Given the description of an element on the screen output the (x, y) to click on. 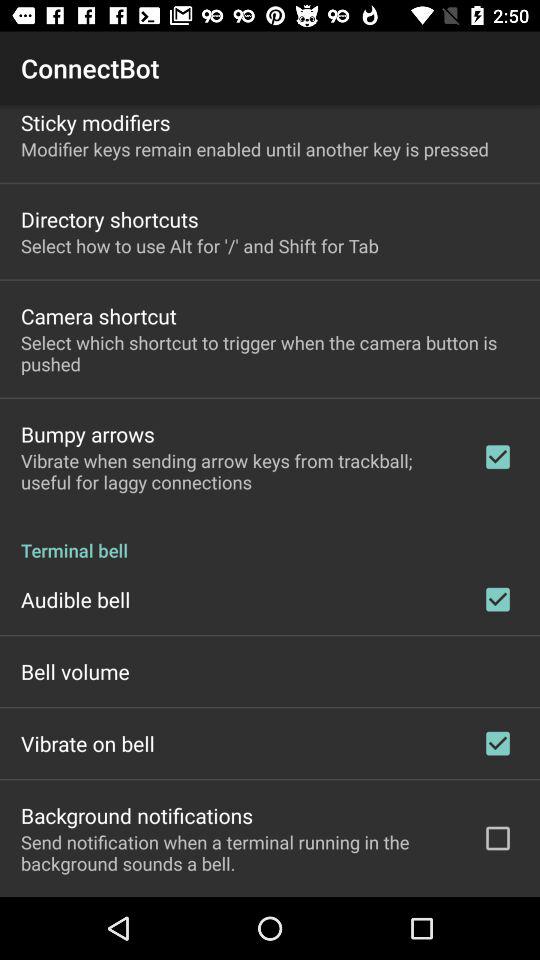
swipe until send notification when item (238, 852)
